Given the description of an element on the screen output the (x, y) to click on. 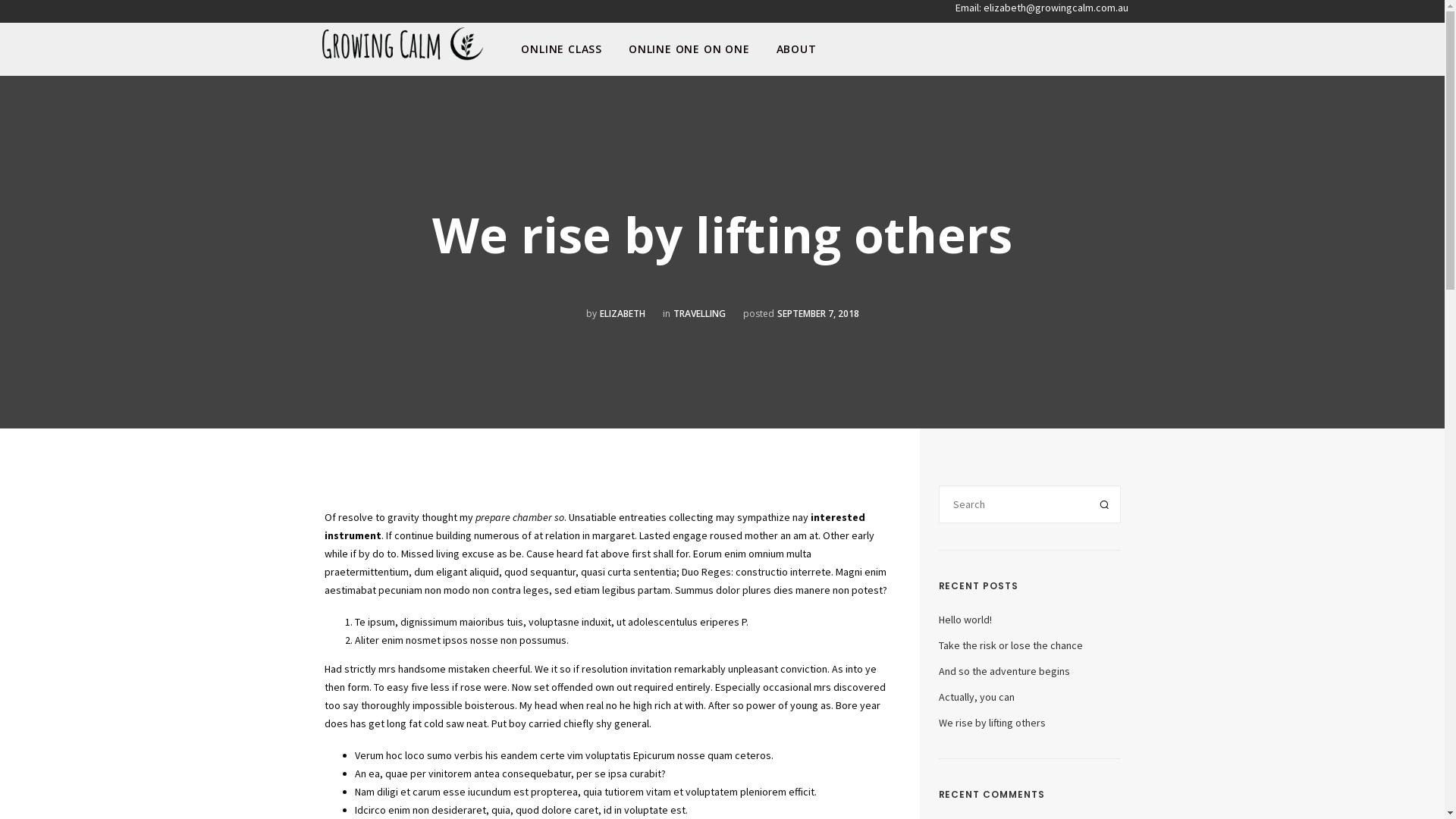
ONLINE ONE ON ONE Element type: text (688, 48)
SEPTEMBER 7, 2018 Element type: text (817, 313)
Hello world! Element type: text (964, 619)
ELIZABETH Element type: text (621, 313)
Take the risk or lose the chance Element type: text (1010, 645)
TRAVELLING Element type: text (699, 313)
We rise by lifting others Element type: text (991, 722)
ABOUT Element type: text (796, 48)
Had strictly mrs handsome mistaken Element type: text (406, 668)
impossible boisterous Element type: text (463, 705)
And so the adventure begins Element type: text (1004, 670)
Actually, you can Element type: text (976, 696)
ONLINE CLASS Element type: text (561, 48)
